Given the description of an element on the screen output the (x, y) to click on. 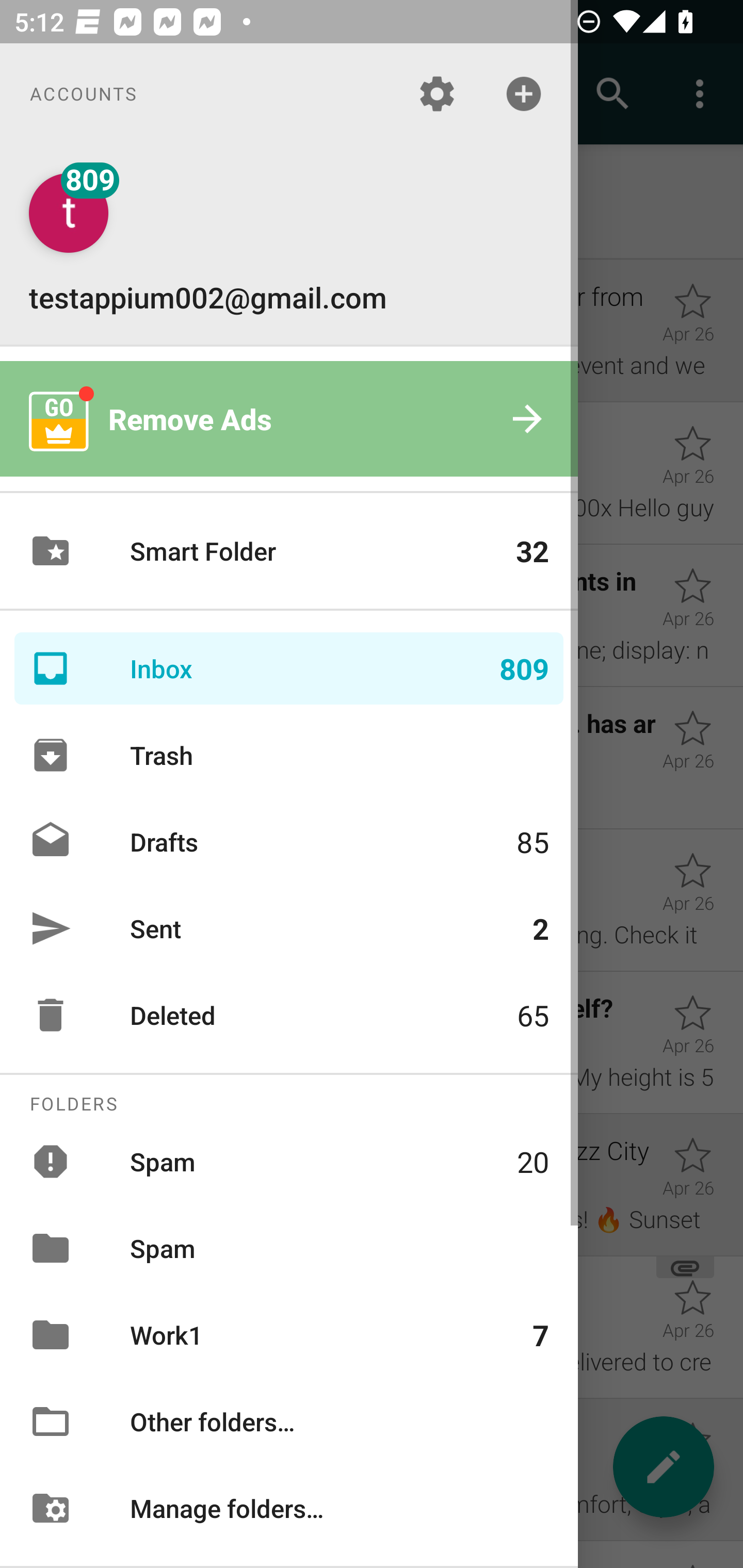
testappium002@gmail.com (289, 244)
Remove Ads (289, 418)
Smart Folder 32 (289, 551)
Inbox 809 (289, 668)
Trash (289, 754)
Drafts 85 (289, 841)
Sent 2 (289, 928)
Deleted 65 (289, 1015)
Spam 20 (289, 1160)
Spam (289, 1248)
Work1 7 (289, 1335)
Other folders… (289, 1421)
Manage folders… (289, 1507)
